Given the description of an element on the screen output the (x, y) to click on. 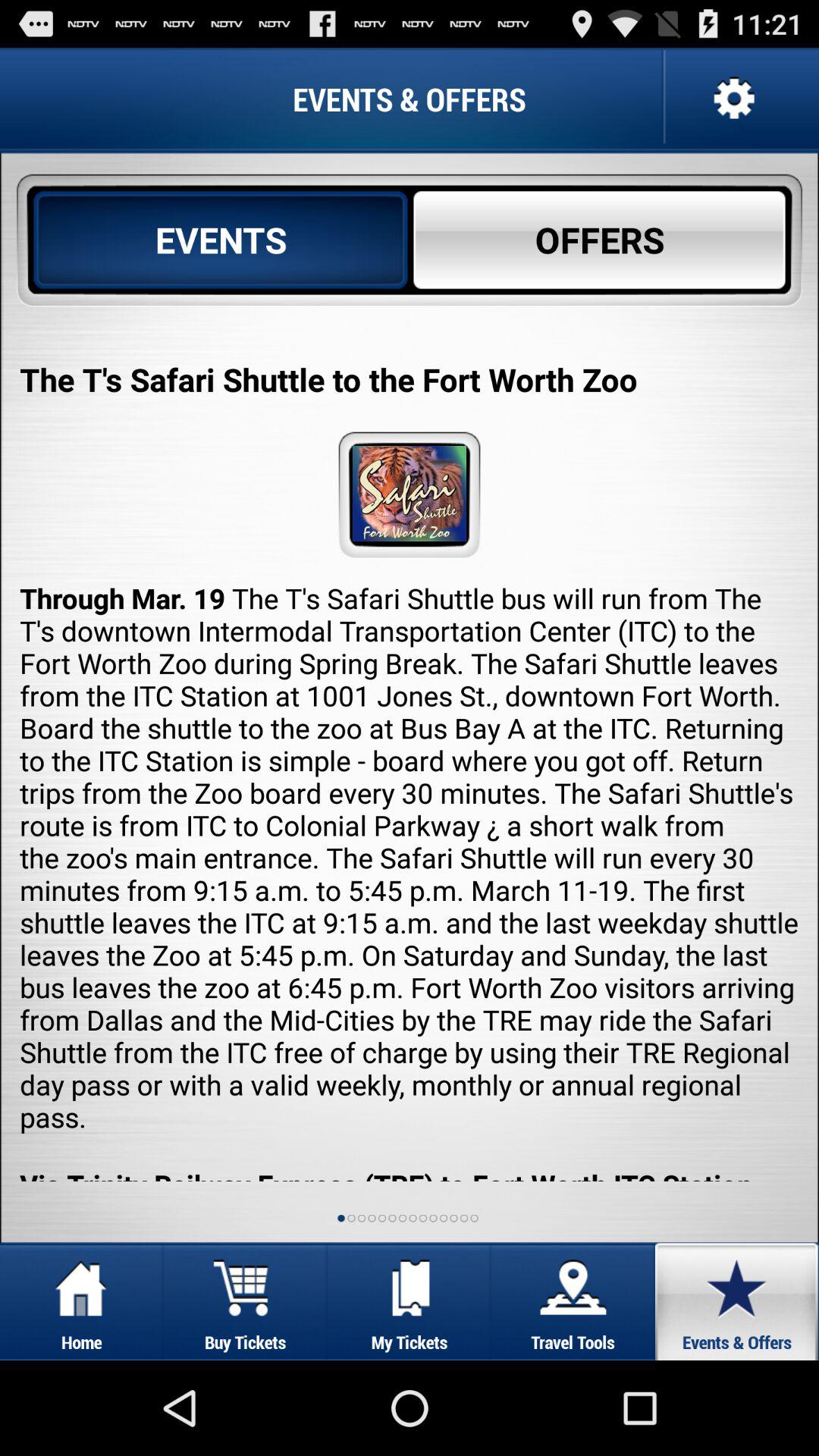
select the settings option (732, 99)
